Given the description of an element on the screen output the (x, y) to click on. 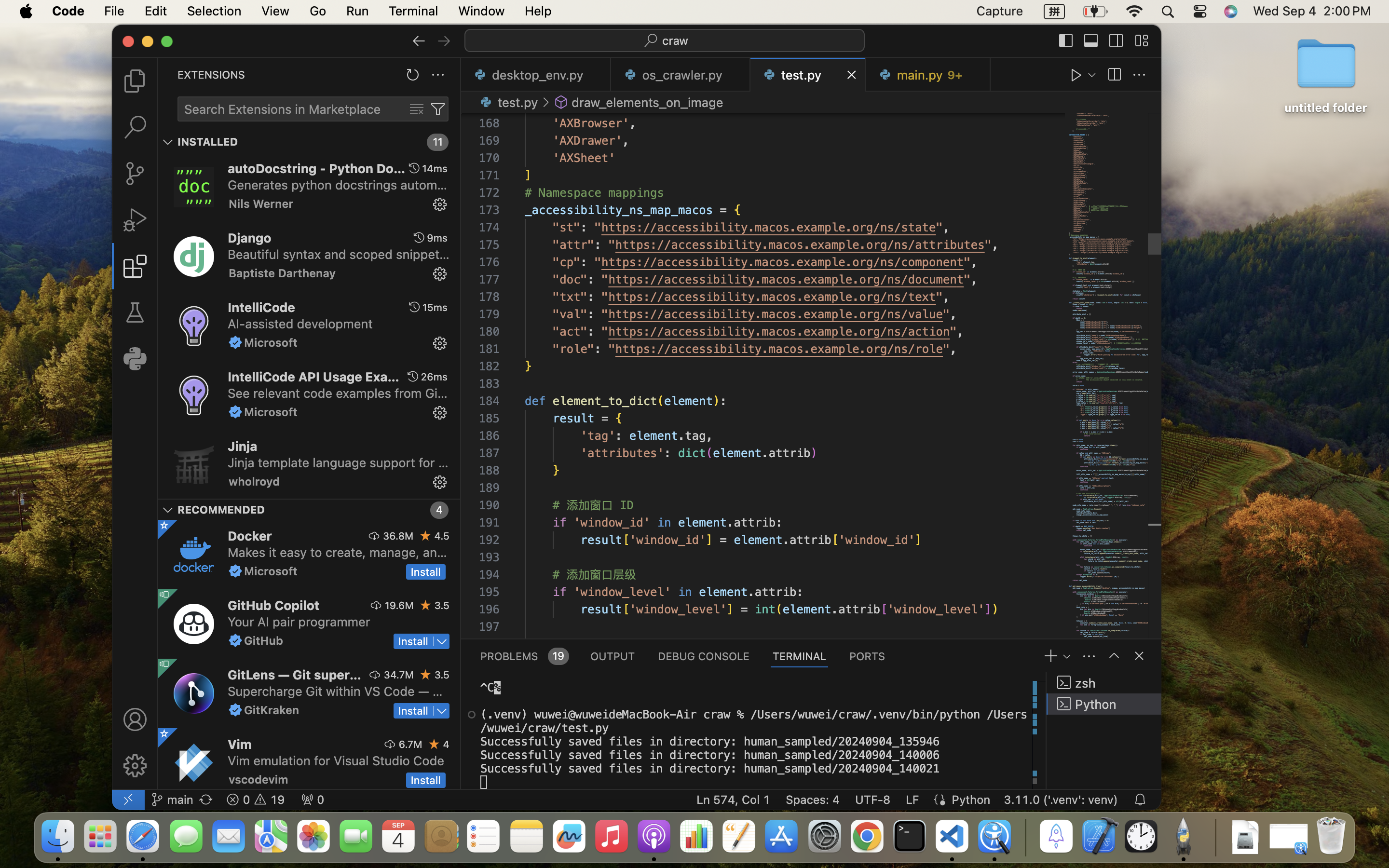
Jinja template language support for Visual Studio Code Element type: AXStaticText (337, 462)
15ms Element type: AXStaticText (434, 306)
 0 Element type: AXButton (312, 799)
0  Element type: AXRadioButton (134, 173)
0  Element type: AXRadioButton (134, 127)
